Given the description of an element on the screen output the (x, y) to click on. 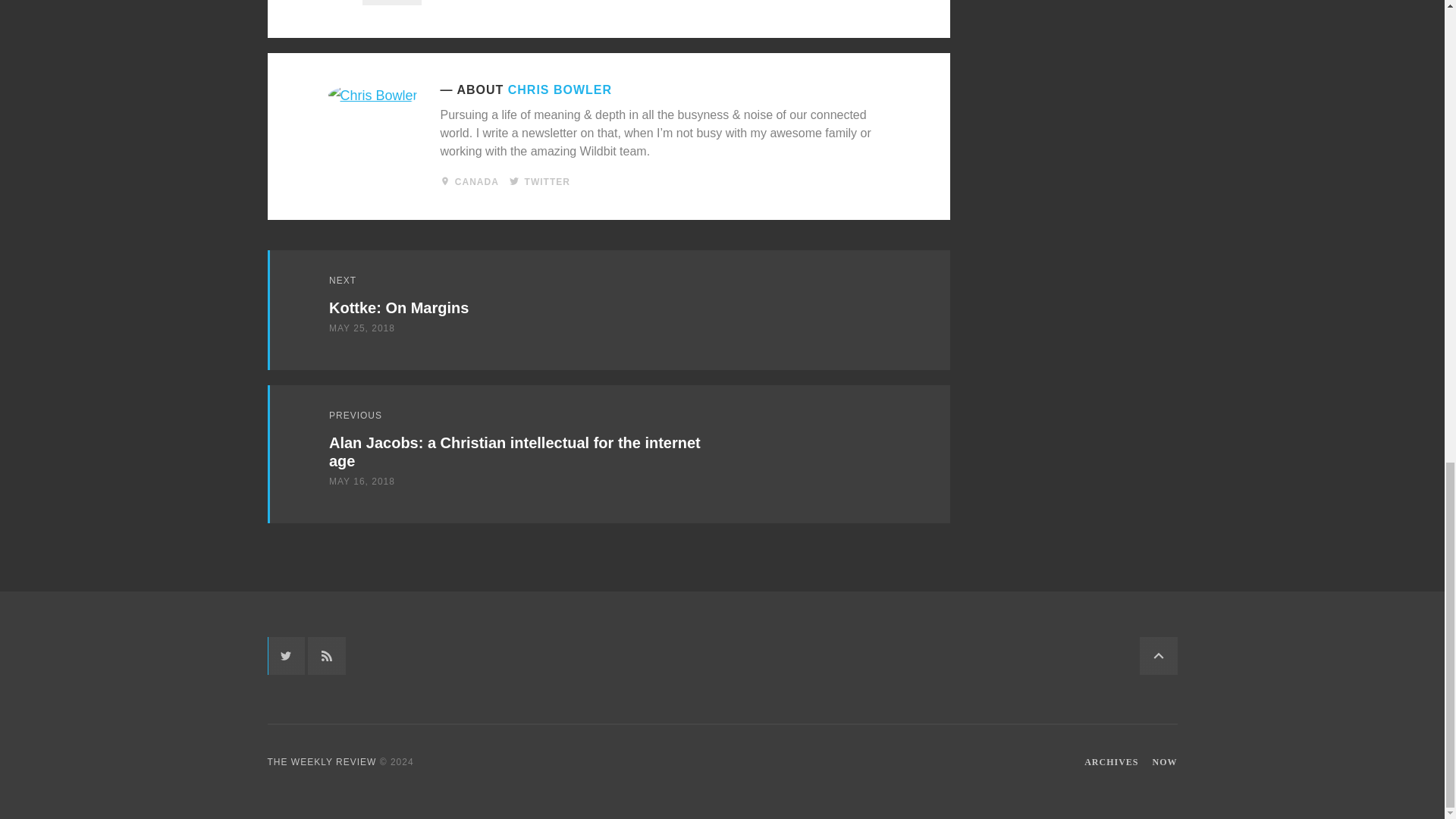
RUNNING (392, 2)
Kottke: On Margins (398, 307)
TWITTER (547, 181)
Alan Jacobs: a Christian intellectual for the internet age (514, 451)
CHRIS BOWLER (559, 88)
